Given the description of an element on the screen output the (x, y) to click on. 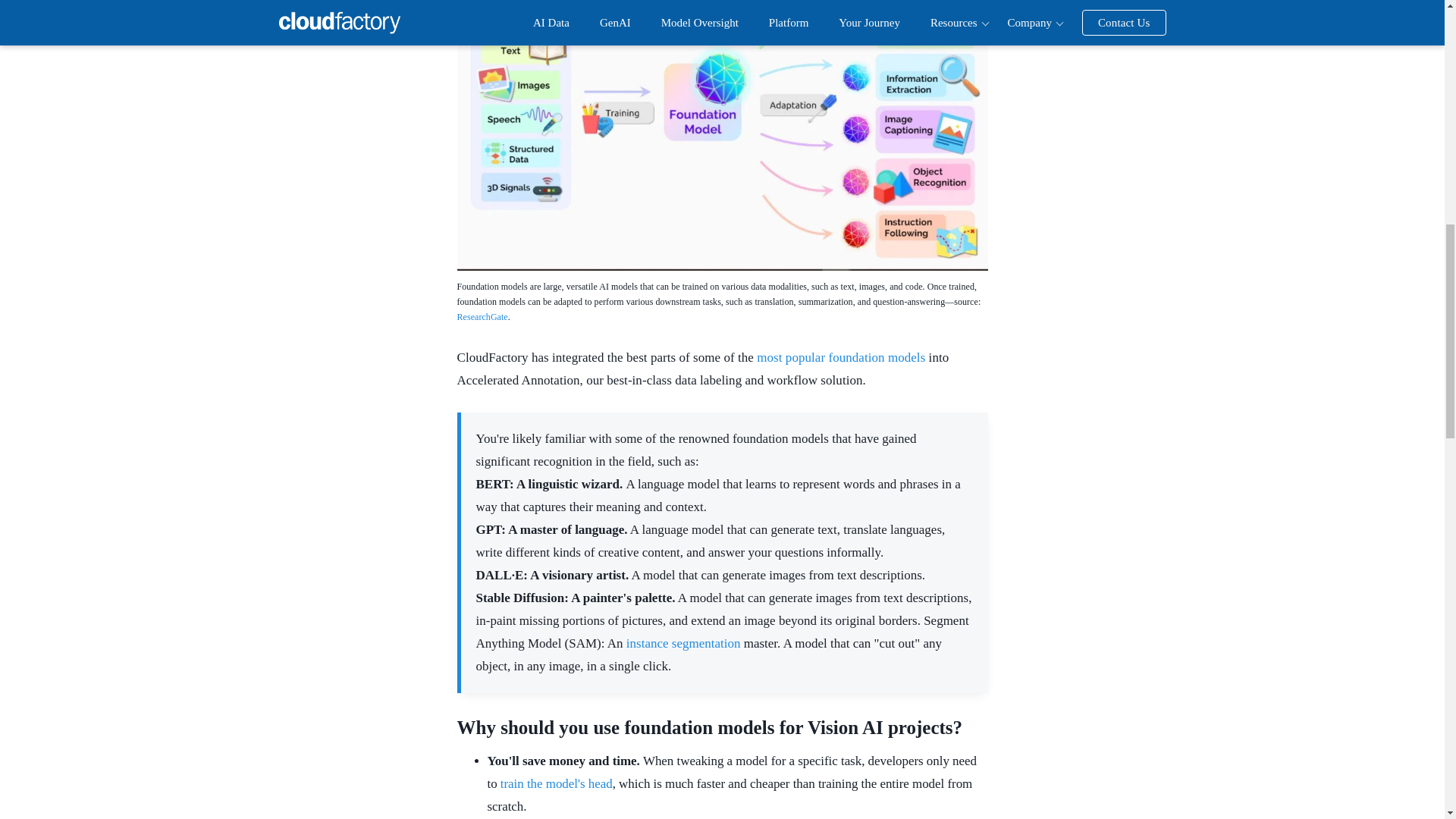
train the model's head (556, 783)
ResearchGate (481, 317)
most popular foundation models (840, 357)
instance segmentation (683, 643)
